Given the description of an element on the screen output the (x, y) to click on. 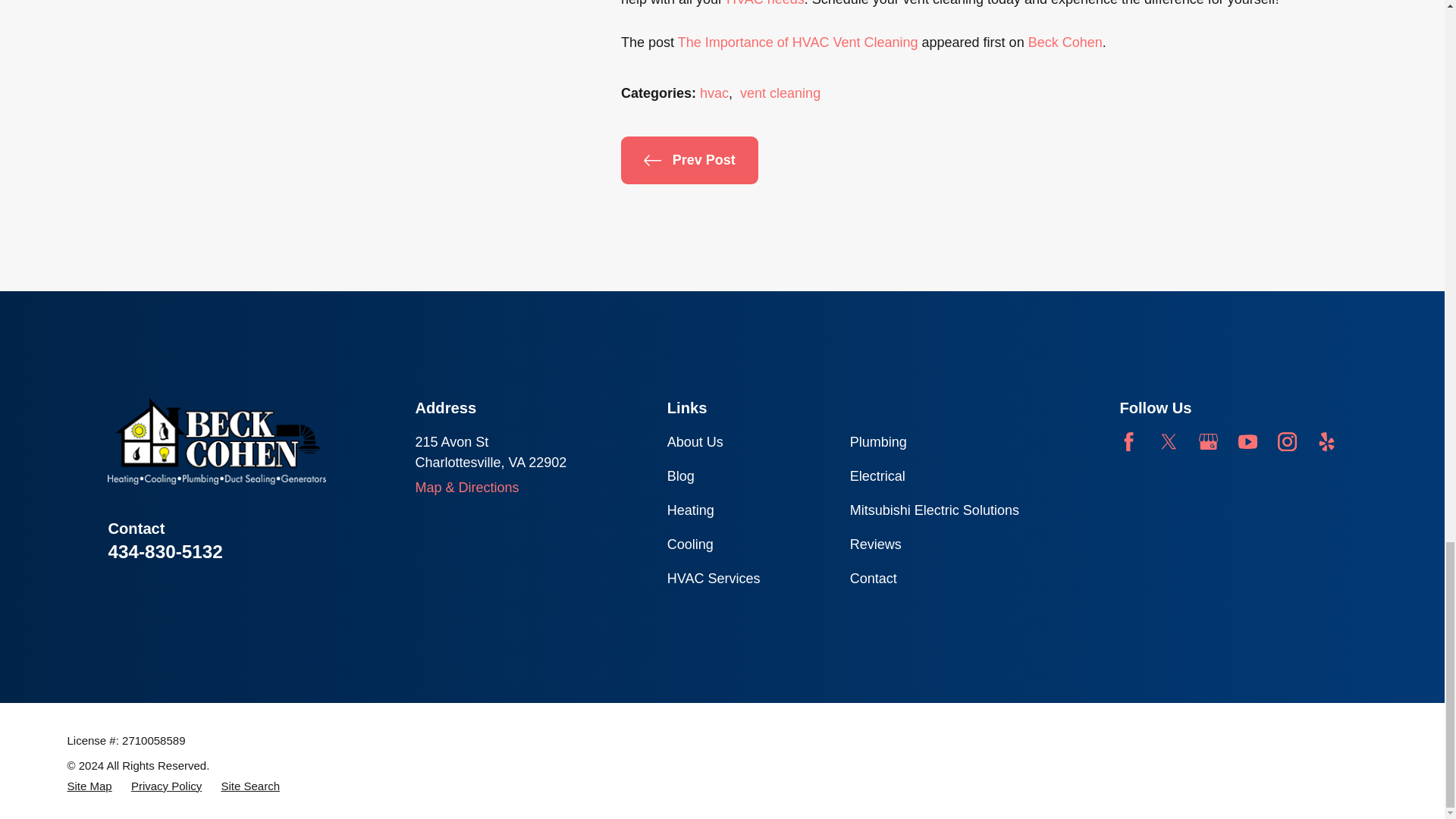
Facebook (1128, 441)
Twitter (1167, 441)
Google Business Profile (1207, 441)
Home (216, 441)
